Given the description of an element on the screen output the (x, y) to click on. 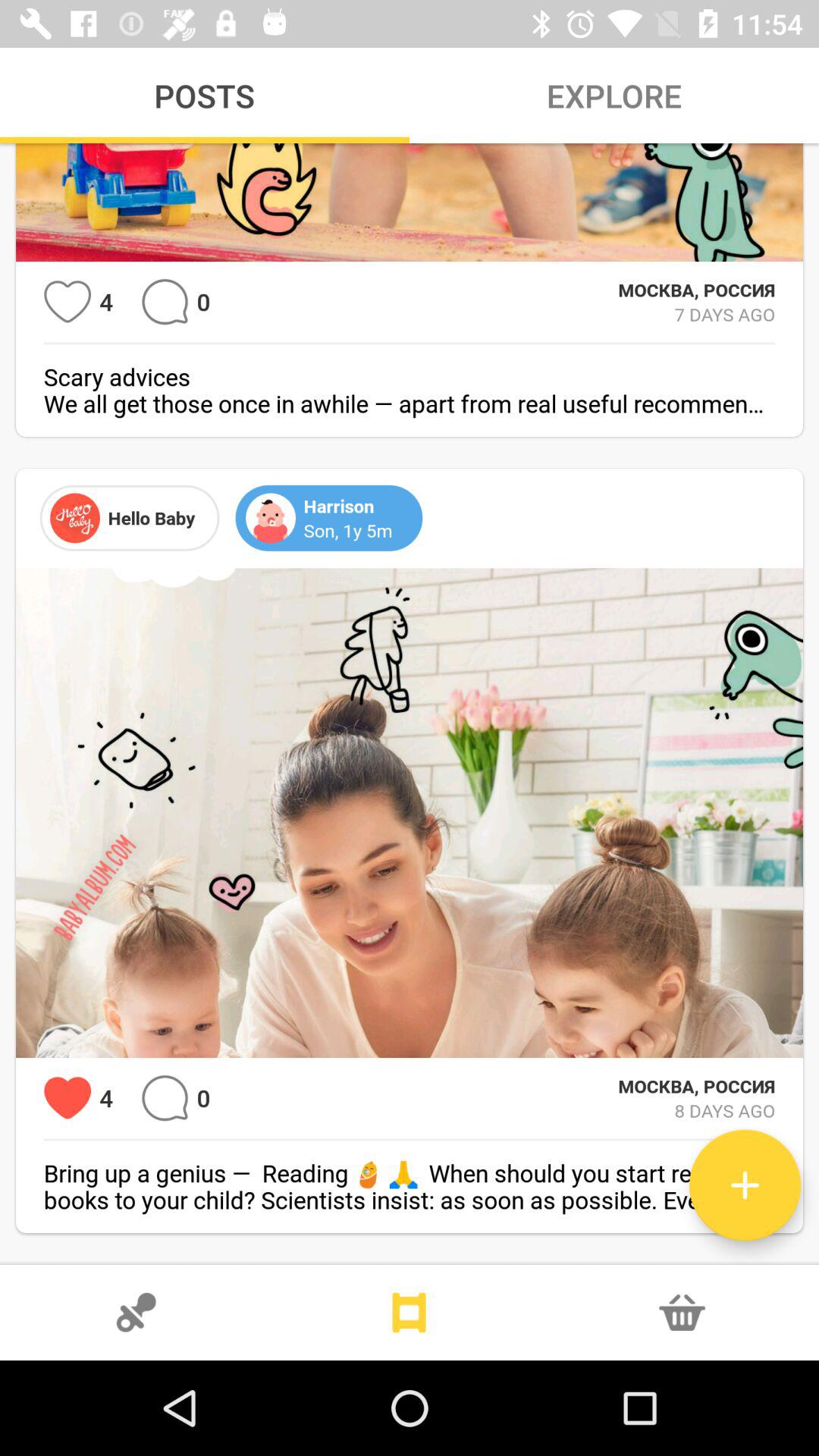
turn off the icon next to 4 icon (67, 301)
